Given the description of an element on the screen output the (x, y) to click on. 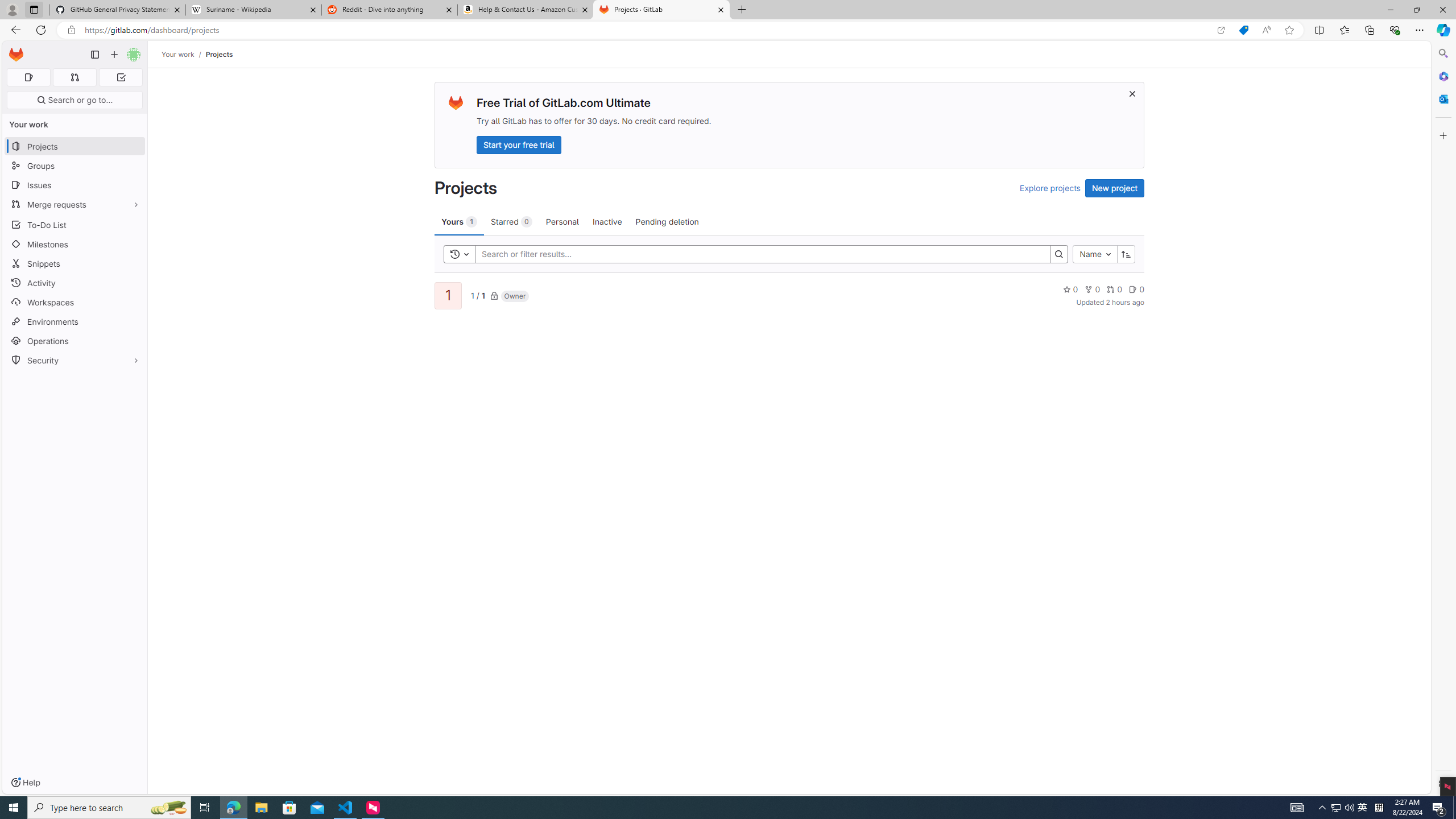
0 (1136, 288)
Environments (74, 321)
Issues (74, 185)
Projects (218, 53)
11 / 1Owner0000Updated 2 hours ago (788, 295)
Personal (561, 221)
Issues (74, 185)
Sort direction: Ascending (1125, 253)
Milestones (74, 244)
